Given the description of an element on the screen output the (x, y) to click on. 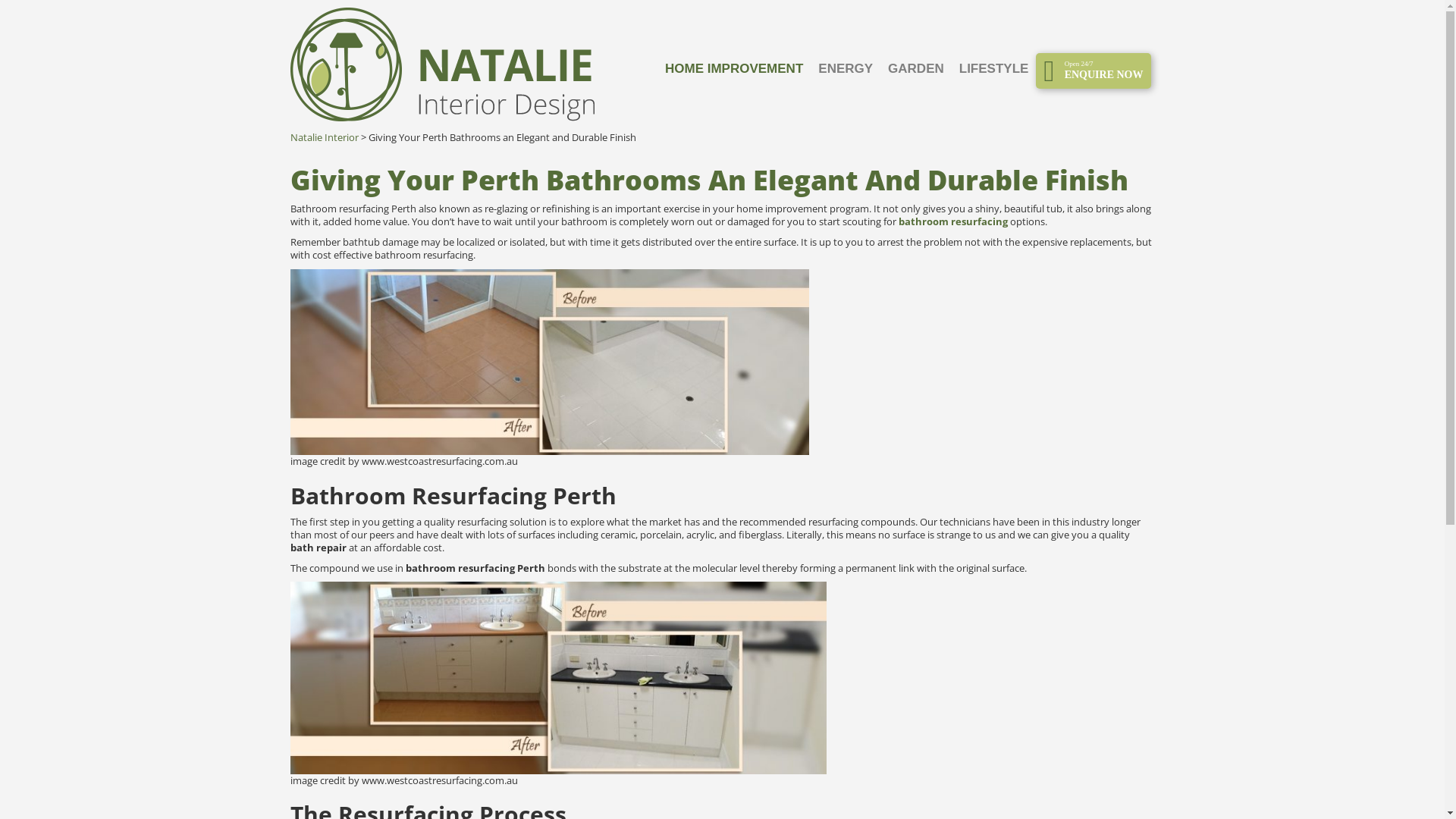
ENERGY Element type: text (845, 68)
GARDEN Element type: text (915, 68)
LIFESTYLE Element type: text (993, 68)
Bathroom Resurfacing Perth - Bath Repair | Natalie Interior Element type: hover (548, 362)
Bathroom Resurfacing Perth - Bath Repair | Natalie Interior Element type: hover (557, 677)
bathroom resurfacing Element type: text (953, 221)
Natalie Interior Element type: text (323, 137)
Open 24/7
ENQUIRE NOW Element type: text (1092, 69)
HOME IMPROVEMENT Element type: text (733, 68)
